Given the description of an element on the screen output the (x, y) to click on. 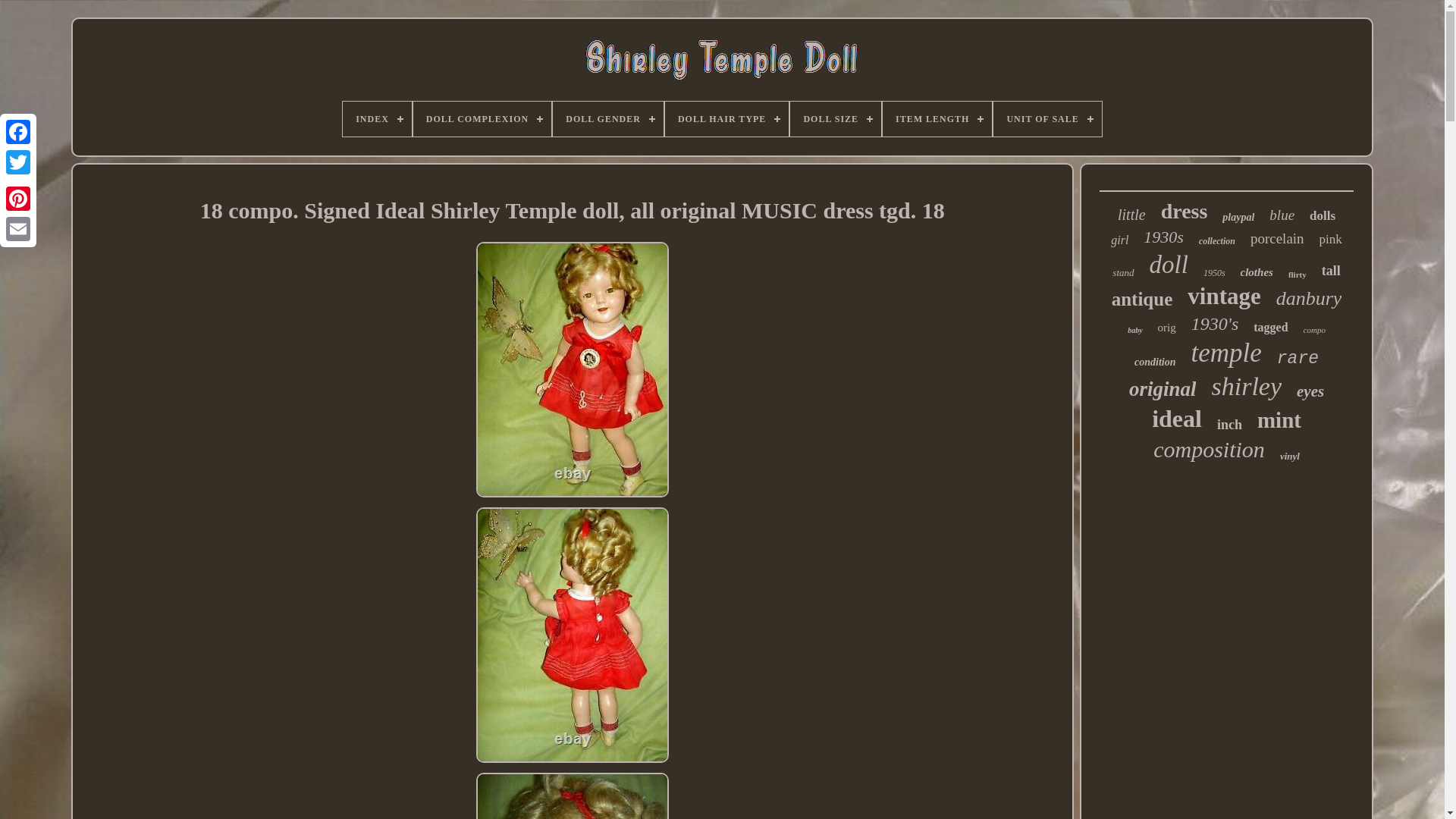
DOLL HAIR TYPE (727, 118)
INDEX (377, 118)
DOLL COMPLEXION (482, 118)
DOLL GENDER (608, 118)
